Given the description of an element on the screen output the (x, y) to click on. 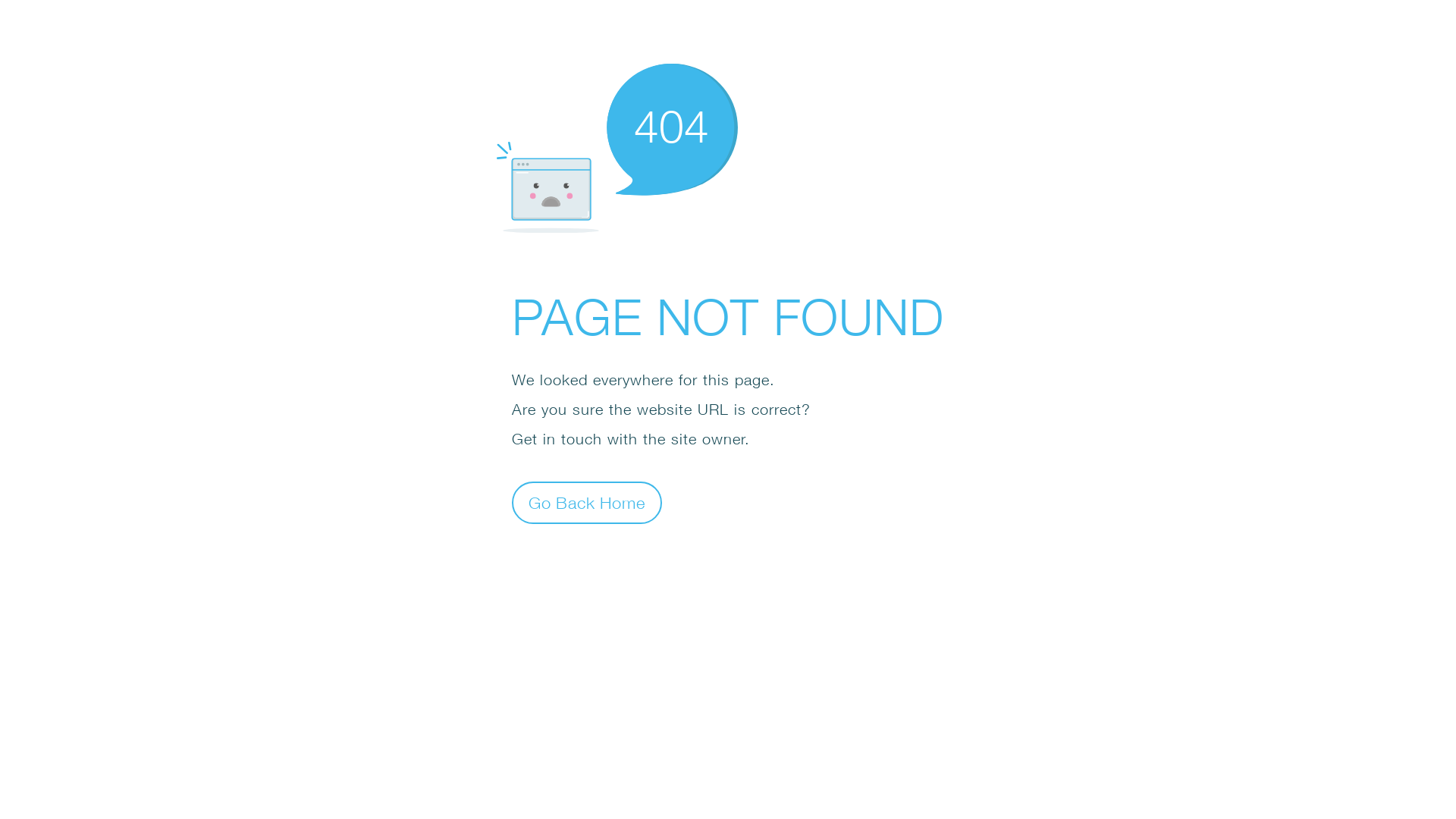
Go Back Home Element type: text (586, 502)
